Given the description of an element on the screen output the (x, y) to click on. 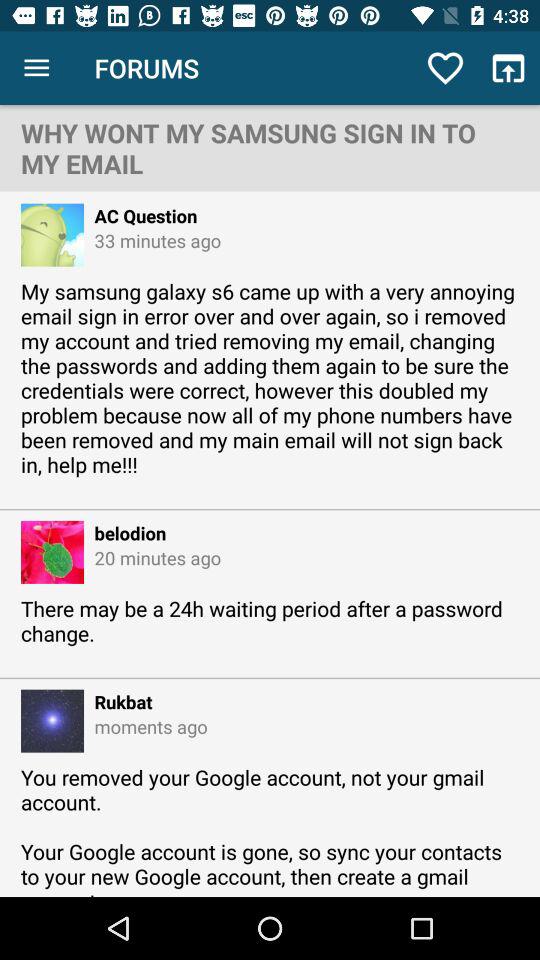
scroll to rukbat (118, 701)
